Given the description of an element on the screen output the (x, y) to click on. 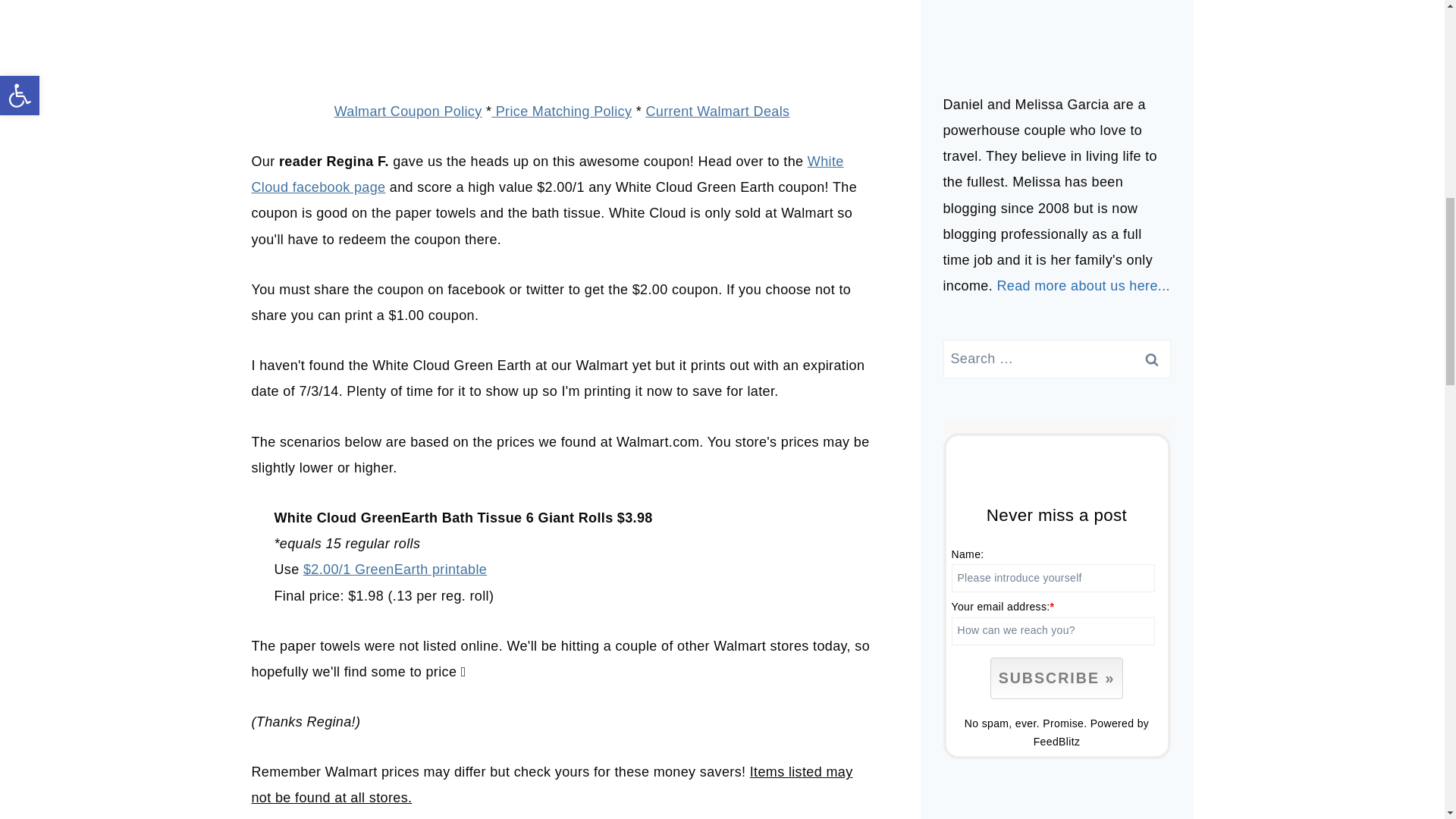
Search (1151, 358)
How can we reach you? (1052, 631)
Search (1151, 358)
click to join (1056, 678)
Please introduce yourself (1052, 578)
